Given the description of an element on the screen output the (x, y) to click on. 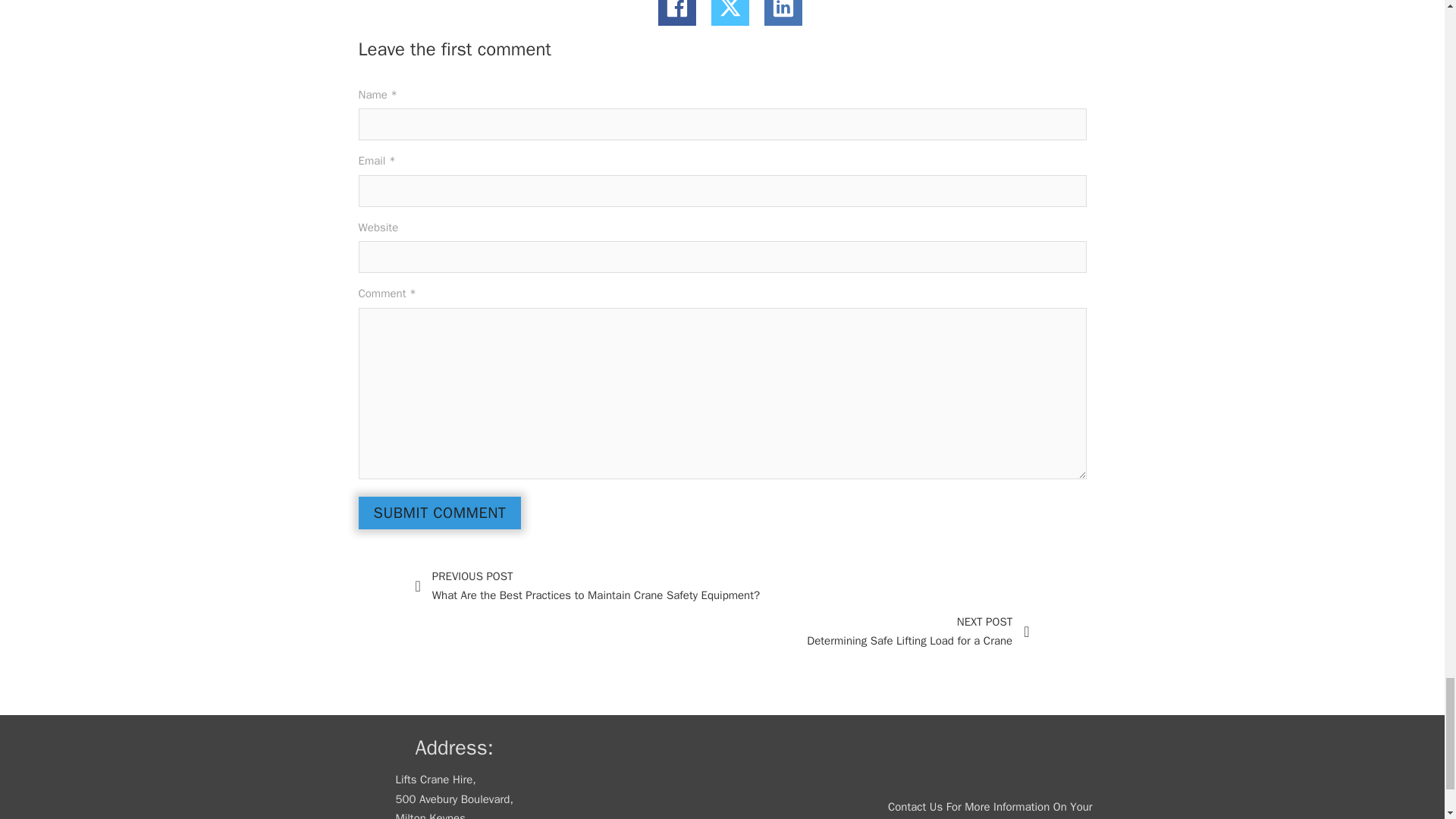
Submit Comment (439, 512)
Submit Comment (722, 631)
